Given the description of an element on the screen output the (x, y) to click on. 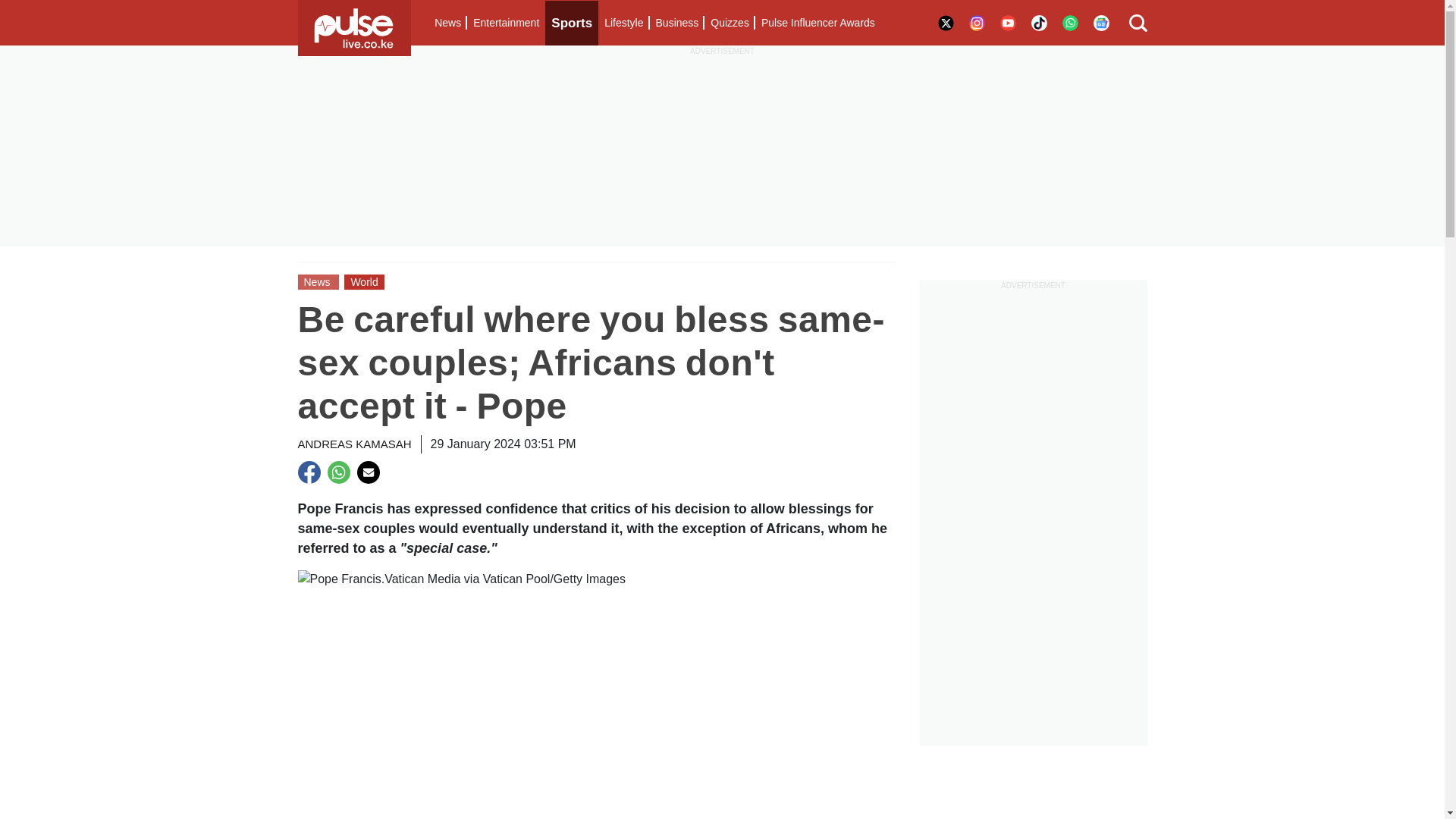
Sports (571, 22)
Quizzes (729, 22)
Entertainment (505, 22)
Business (676, 22)
Pulse Influencer Awards (817, 22)
Lifestyle (623, 22)
